Given the description of an element on the screen output the (x, y) to click on. 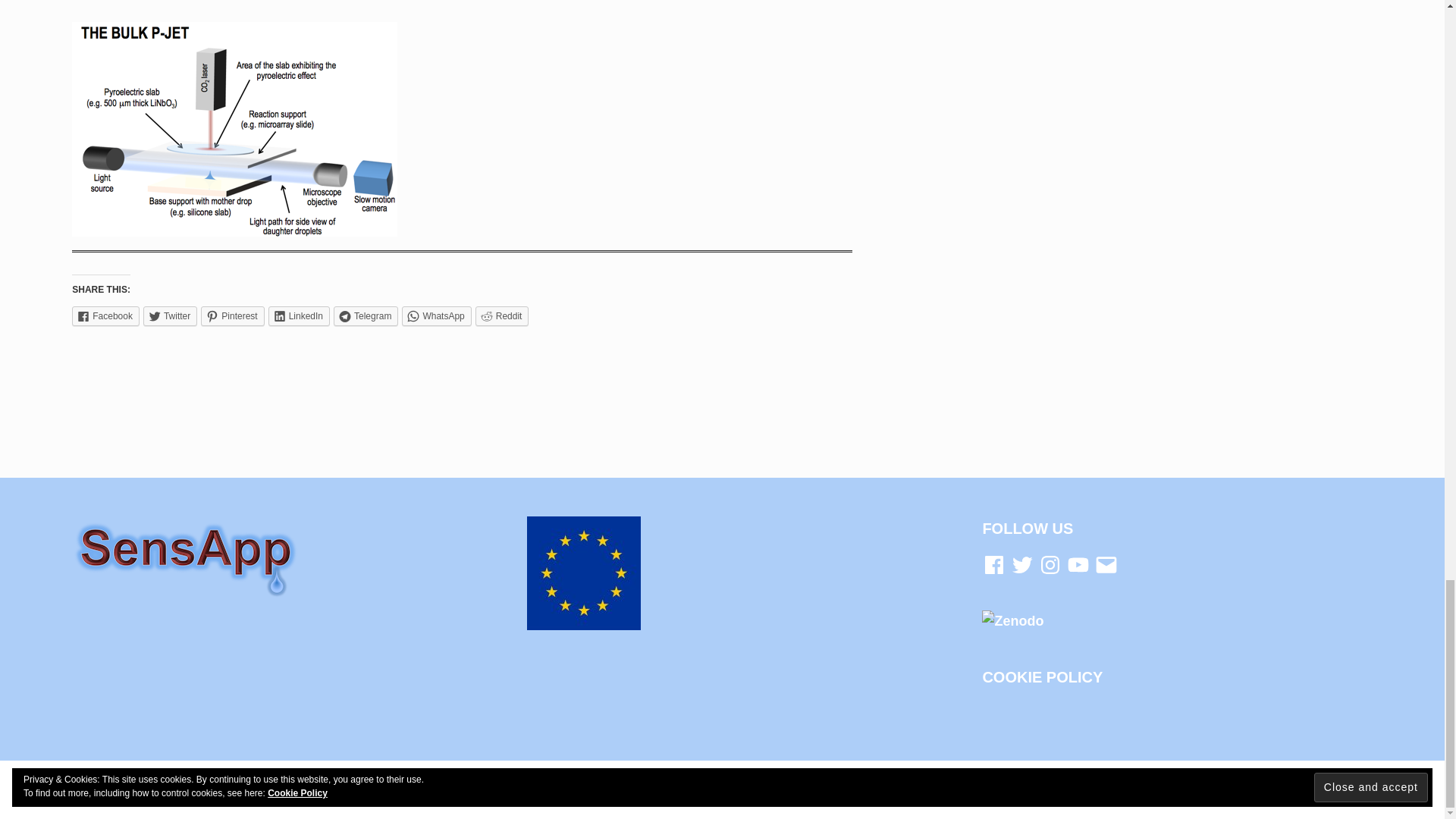
Click to share on Twitter (169, 315)
Click to share on Telegram (365, 315)
Click to share on Reddit (502, 315)
Click to share on Facebook (105, 315)
Zenodo (1012, 621)
Click to share on LinkedIn (298, 315)
Click to share on WhatsApp (435, 315)
Click to share on Pinterest (231, 315)
